Given the description of an element on the screen output the (x, y) to click on. 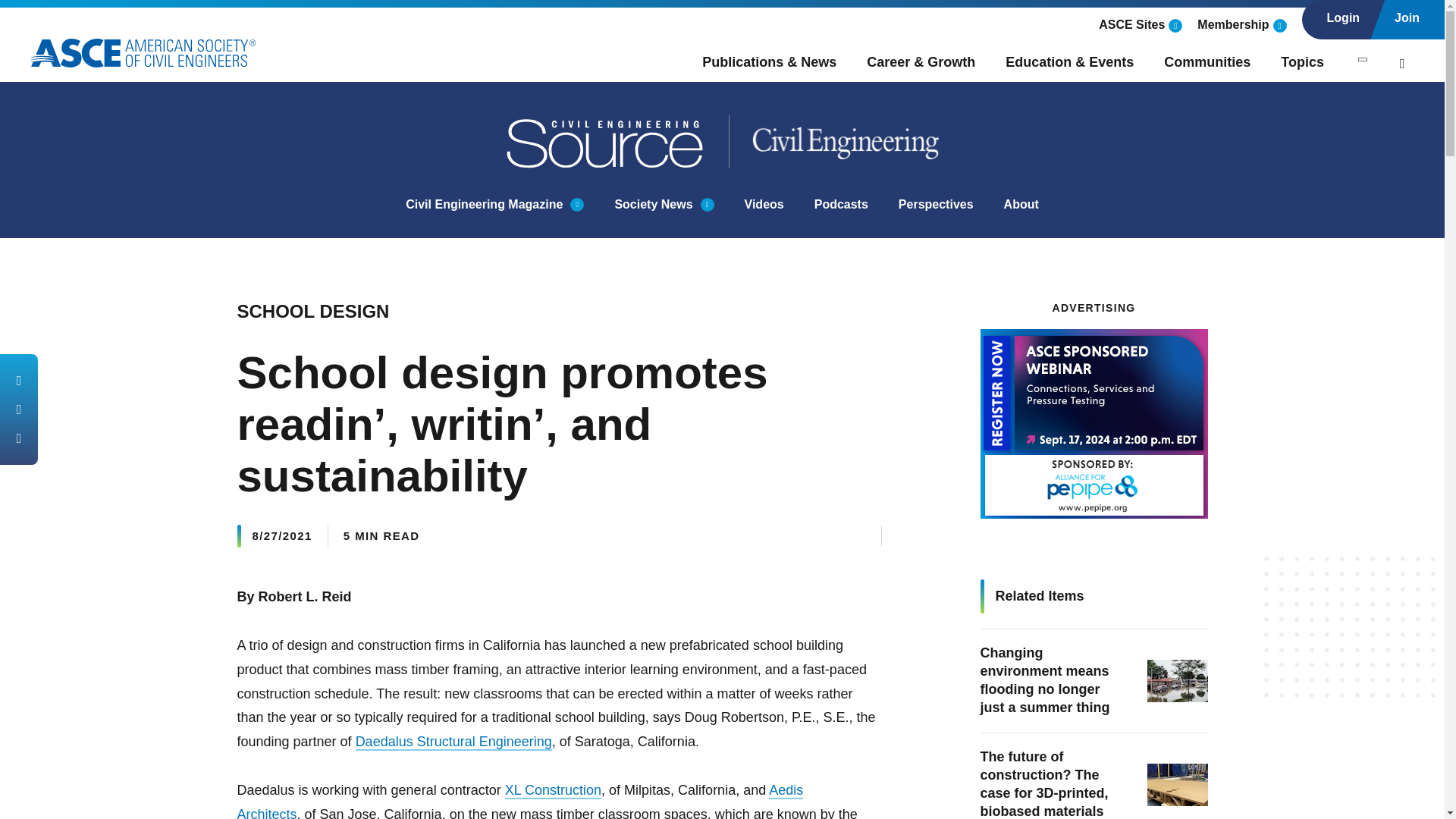
Videos (764, 204)
Civil Engineering Source (606, 141)
About (1021, 204)
Podcasts (840, 204)
Civil Engineering Magazine (484, 204)
Civil Engineering (834, 141)
